Given the description of an element on the screen output the (x, y) to click on. 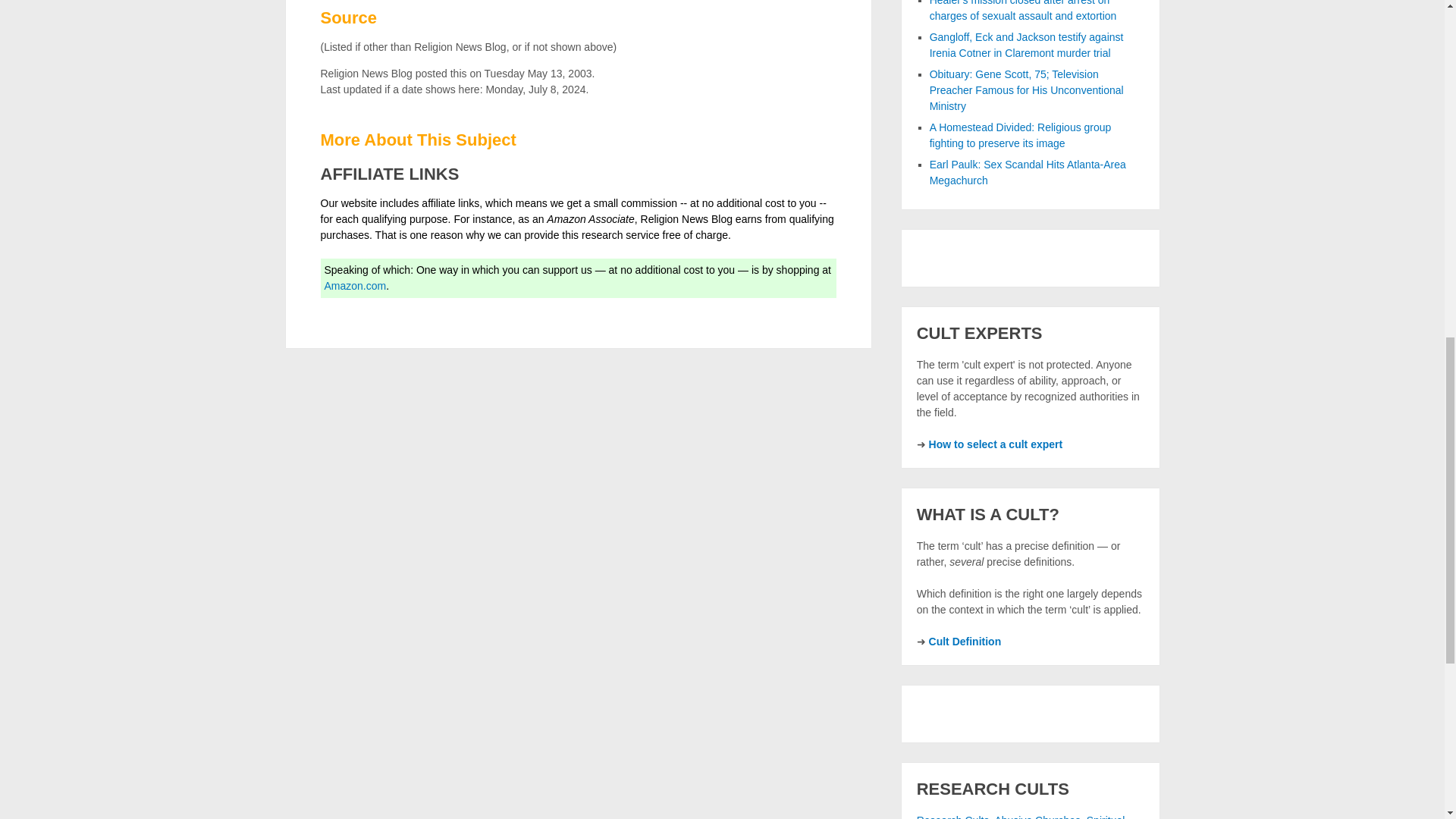
Cult Definition (964, 641)
Amazon.com (355, 285)
Earl Paulk: Sex Scandal Hits Atlanta-Area Megachurch (1027, 172)
How to select a cult expert (995, 444)
